Given the description of an element on the screen output the (x, y) to click on. 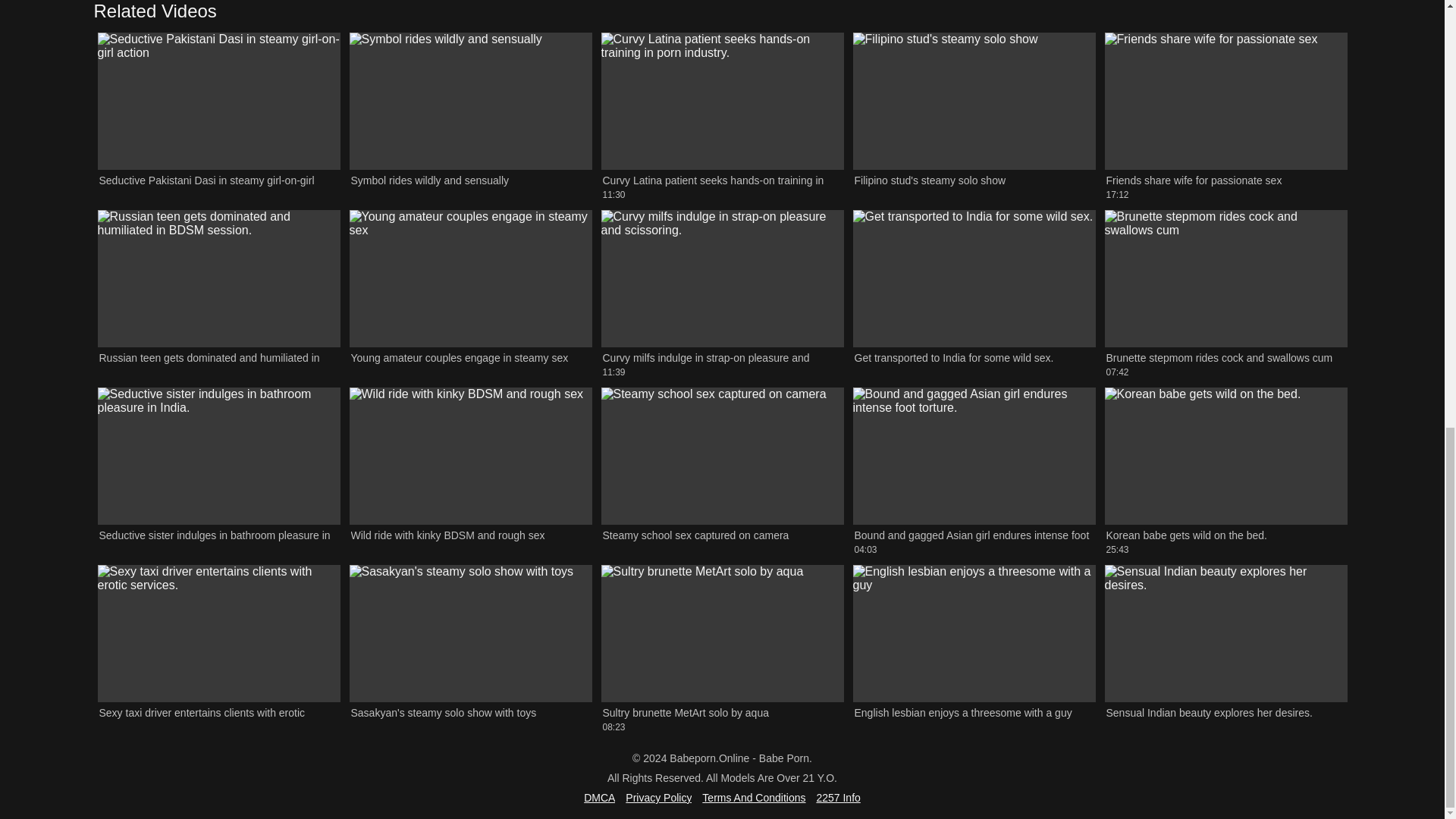
Seductive sister indulges in bathroom pleasure in India. (218, 471)
English lesbian enjoys a threesome with a guy (972, 649)
DMCA (598, 797)
Young amateur couples engage in steamy sex (470, 293)
English lesbian enjoys a threesome with a guy (972, 649)
Symbol rides wildly and sensually (470, 115)
2257 Info (837, 797)
Sasakyan's steamy solo show with toys (470, 649)
Symbol rides wildly and sensually (470, 115)
Bound and gagged Asian girl endures intense foot torture. (972, 471)
Korean babe gets wild on the bed. (1224, 471)
Steamy school sex captured on camera (721, 471)
Sexy taxi driver entertains clients with erotic services. (218, 649)
Seductive Pakistani Dasi in steamy girl-on-girl action (218, 115)
